Given the description of an element on the screen output the (x, y) to click on. 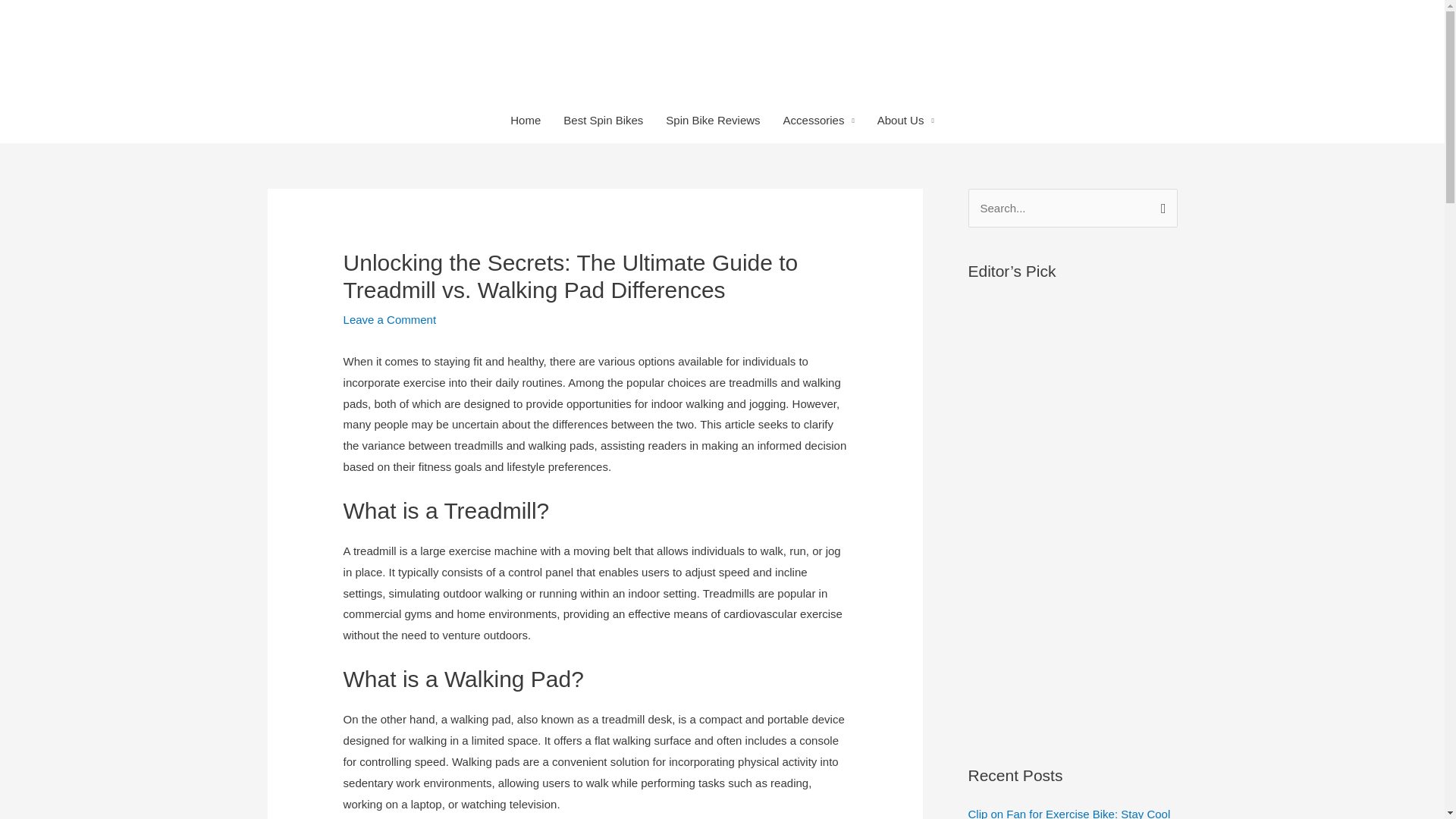
Search (1159, 204)
Accessories (818, 120)
Best spin bikes buying guide with ultimate guideline (712, 120)
Clip on Fan for Exercise Bike: Stay Cool and Comfortable (1069, 813)
Leave a Comment (389, 318)
Search (1159, 204)
About Us (905, 120)
Home (525, 120)
Spin Bike Reviews (712, 120)
Best Spin Bikes (602, 120)
